Given the description of an element on the screen output the (x, y) to click on. 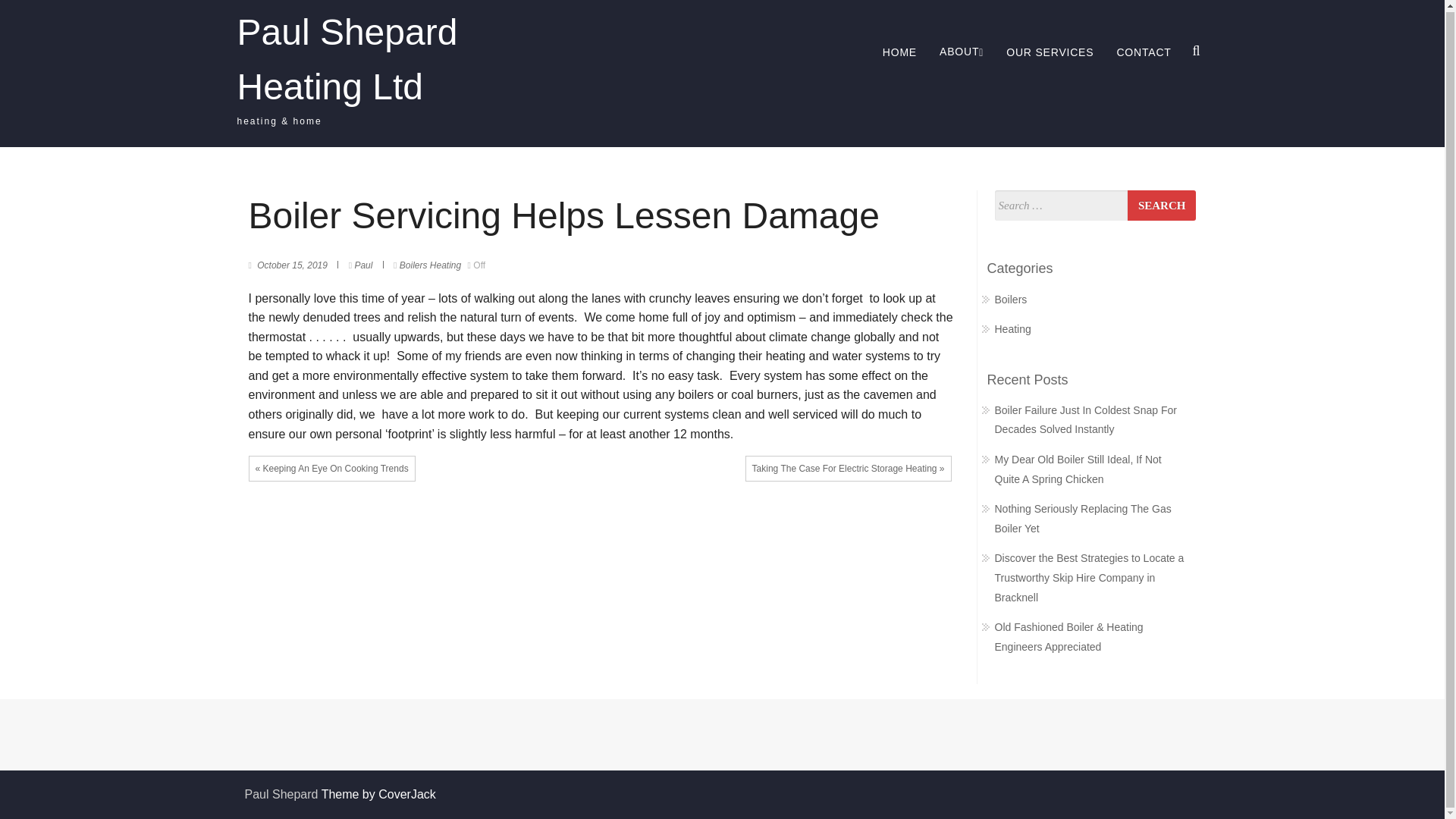
Paul (363, 265)
Nothing Seriously Replacing The Gas Boiler Yet (1083, 518)
Heating (1012, 328)
Search (858, 421)
Off (476, 265)
Boilers (413, 265)
ABOUT (961, 51)
Search (1160, 205)
Theme by CoverJack (378, 793)
